Given the description of an element on the screen output the (x, y) to click on. 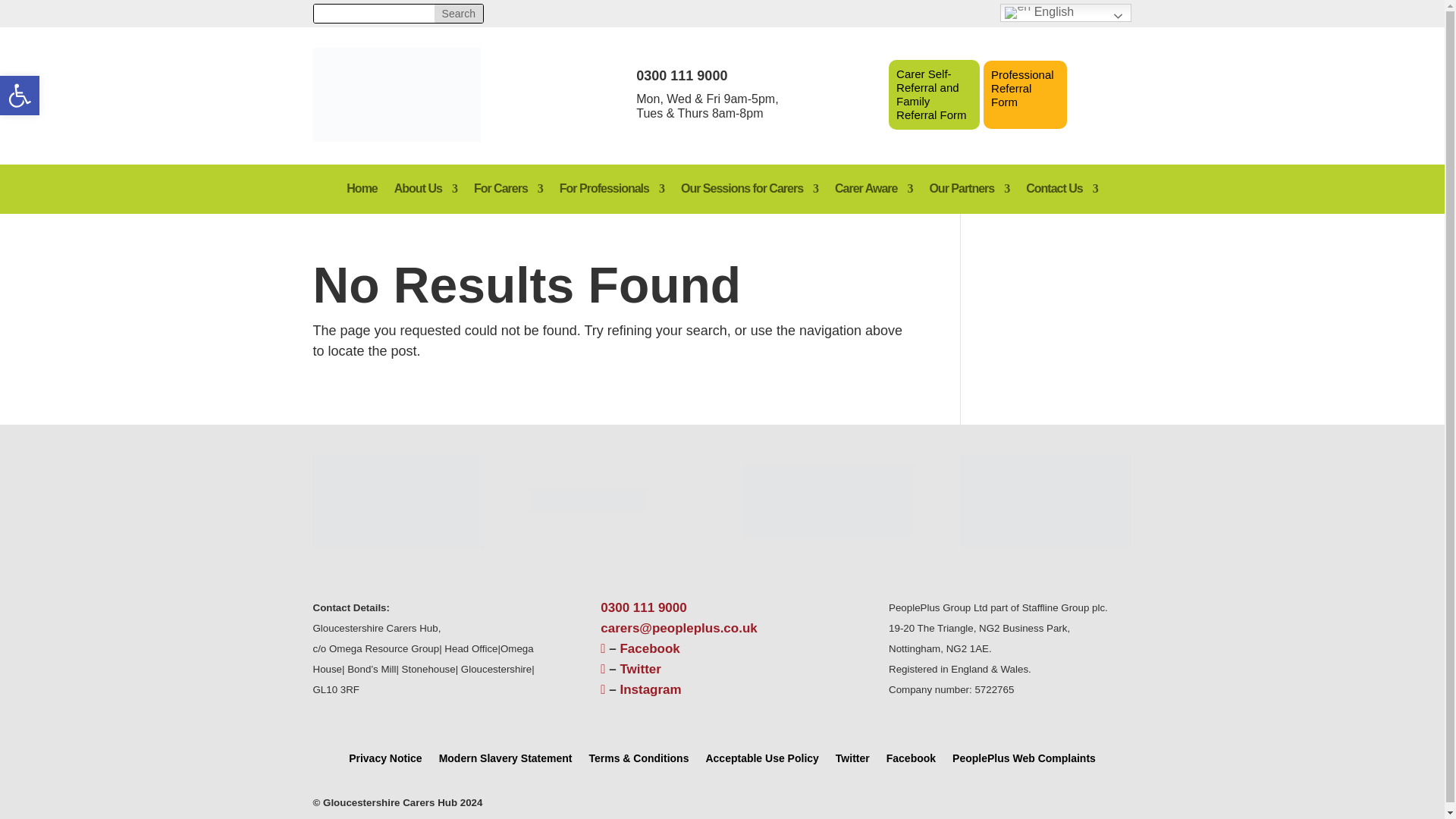
Search (458, 13)
Search (458, 13)
Accessibility Tools (19, 95)
Search (458, 13)
Accessibility Tools (19, 95)
